Given the description of an element on the screen output the (x, y) to click on. 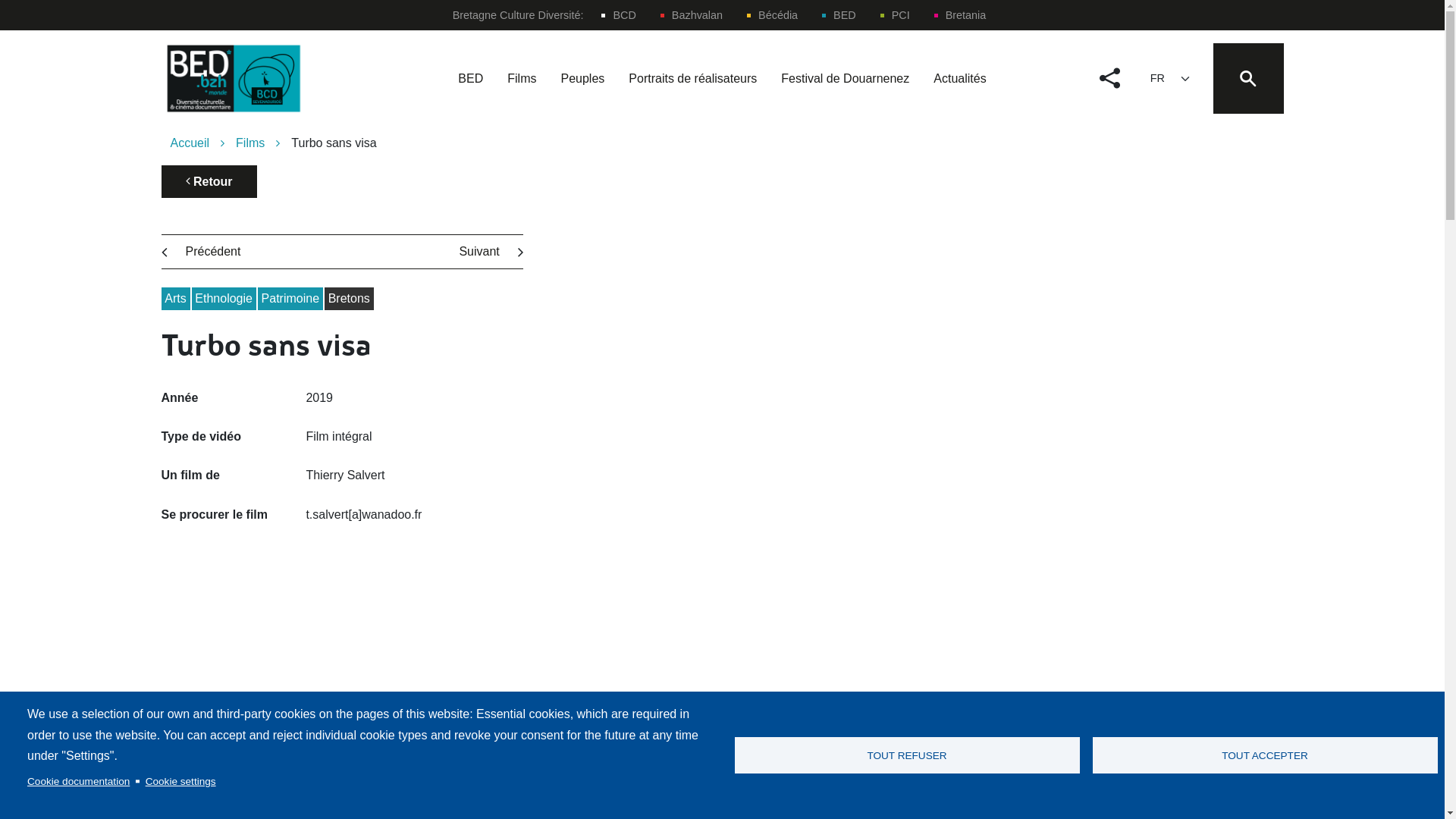
Peuples Element type: text (582, 78)
Patrimoine Element type: text (290, 298)
Bretons Element type: text (348, 298)
BED Element type: text (470, 78)
Festival de Douarnenez Element type: text (844, 78)
PCI Element type: text (895, 15)
TOUT REFUSER Element type: text (906, 755)
BCD Element type: text (618, 15)
Suivant Element type: text (478, 251)
Bazhvalan Element type: text (691, 15)
Films Element type: text (263, 142)
Cookie documentation Element type: text (78, 781)
Cookie settings Element type: text (180, 781)
Ethnologie Element type: text (223, 298)
Films Element type: text (521, 78)
Rechercher Element type: text (815, 126)
Accueil Element type: text (202, 142)
Bretania Element type: text (960, 15)
Arts Element type: text (174, 298)
BED Element type: text (838, 15)
TOUT ACCEPTER Element type: text (1264, 755)
